Given the description of an element on the screen output the (x, y) to click on. 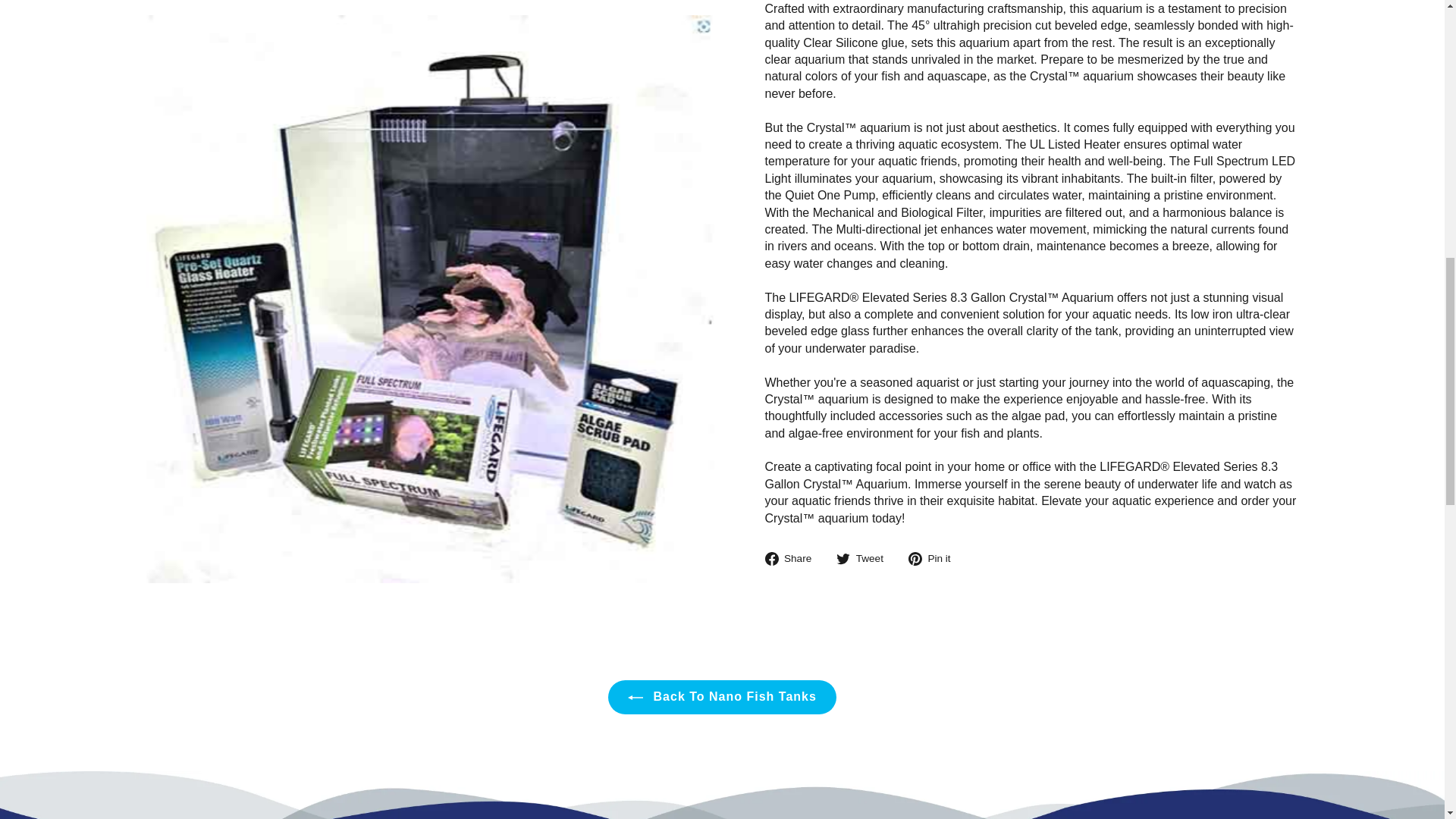
Pin on Pinterest (935, 557)
Share on Facebook (793, 557)
Icon-Left-Arrow (635, 697)
Tweet on Twitter (865, 557)
twitter (842, 558)
